Given the description of an element on the screen output the (x, y) to click on. 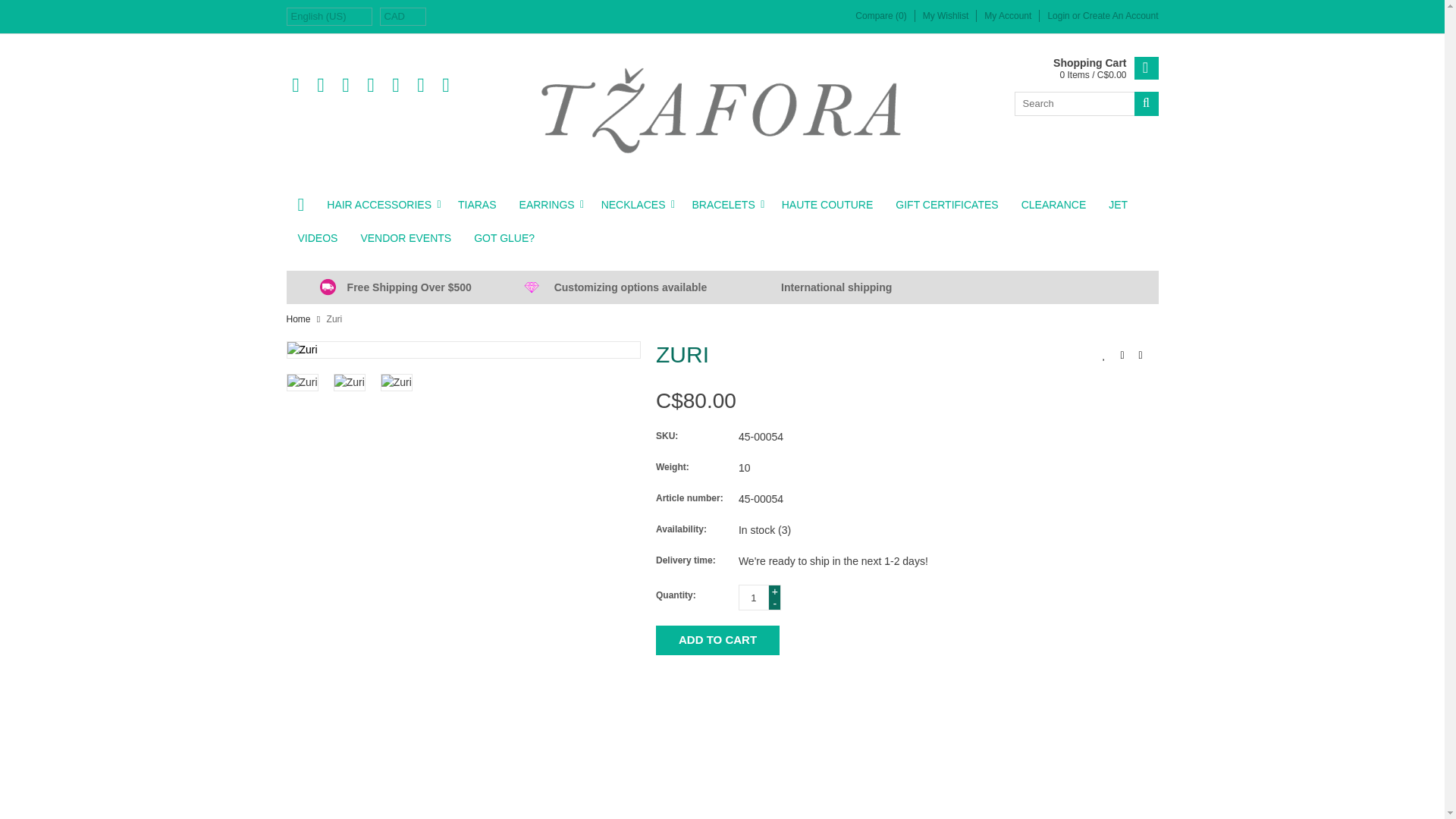
Pinterest Tzafora (370, 86)
My account (1120, 15)
Tzafora - ballroom jewelry (722, 110)
Compare (880, 15)
My wishlist (946, 15)
Tumblr Tzafora (419, 86)
1 (753, 597)
Instagram Tzafora (445, 86)
Twitter Tzafora (320, 86)
YouTube Tzafora (396, 86)
